Given the description of an element on the screen output the (x, y) to click on. 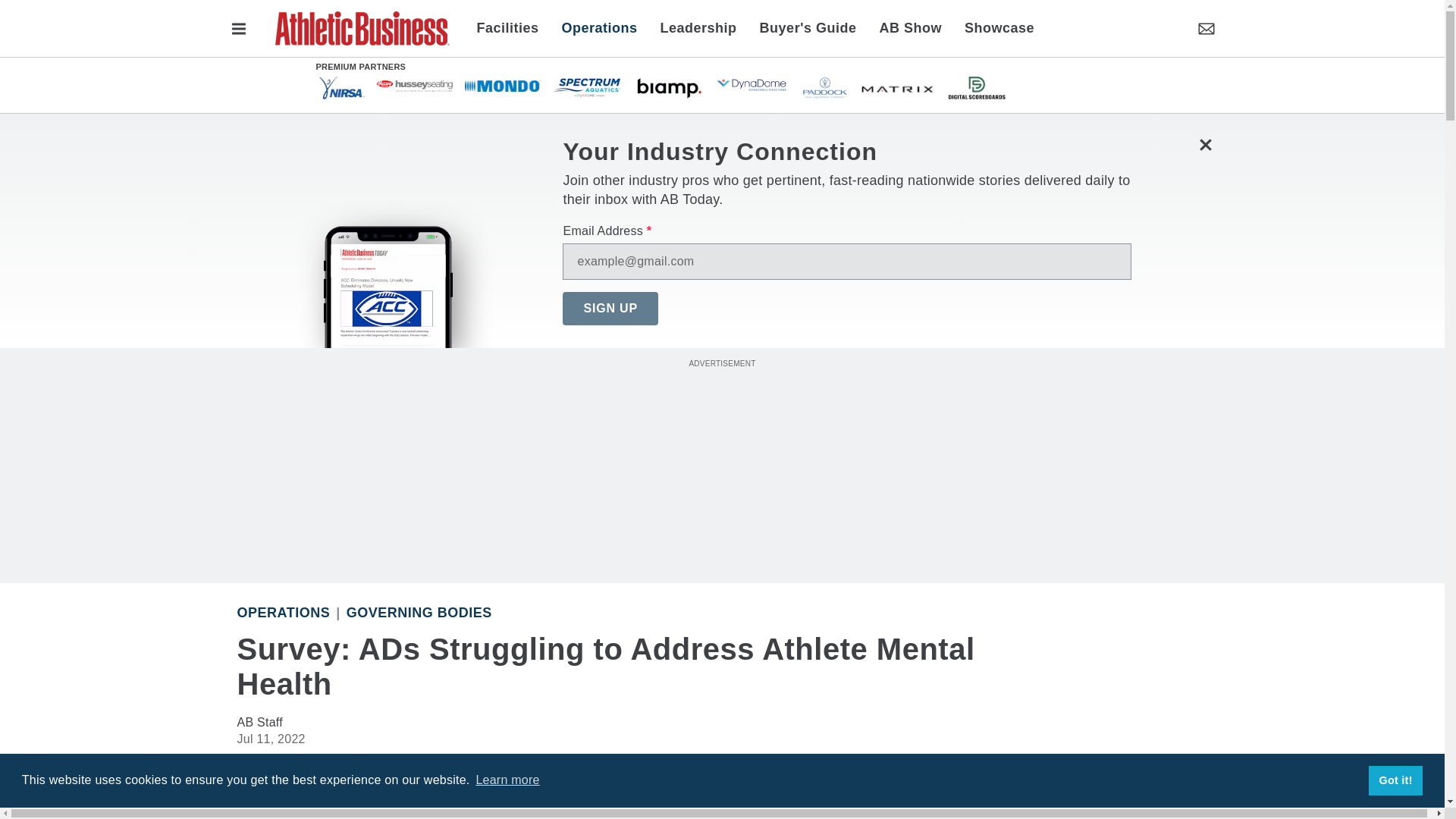
Leadership (698, 27)
Biamp Systems (668, 87)
Paddock Pool Equipment (824, 87)
NIRSA (341, 87)
Hussey Seating Company (413, 85)
SIGN UP (610, 308)
Operations (599, 27)
DynaDome Retractable Enclosures (752, 85)
Mondo (502, 85)
Learn more (507, 780)
Buyer's Guide (807, 27)
Got it! (1395, 780)
Digital Scoreboards (975, 87)
AB Show (910, 27)
